Given the description of an element on the screen output the (x, y) to click on. 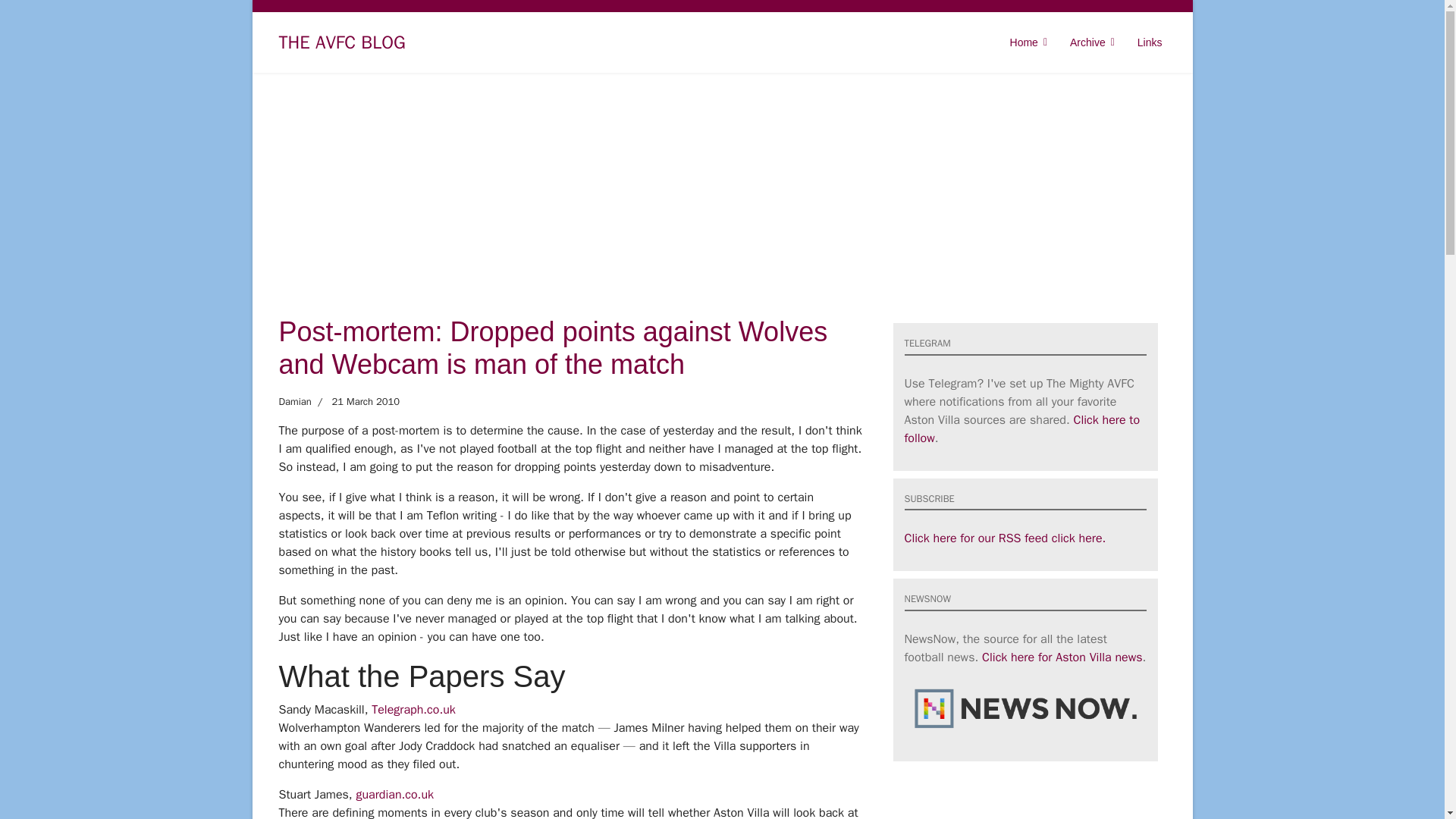
Click here for our RSS feed click here. (1004, 538)
Archive (1091, 42)
Telegraph.co.uk (413, 709)
THE AVFC BLOG (342, 42)
Written by: Damian (295, 401)
guardian.co.uk (394, 794)
Click here to follow (1022, 428)
Home (1028, 42)
Published: 21 March 2010 (354, 401)
Click here for Aston Villa news (1061, 657)
